Given the description of an element on the screen output the (x, y) to click on. 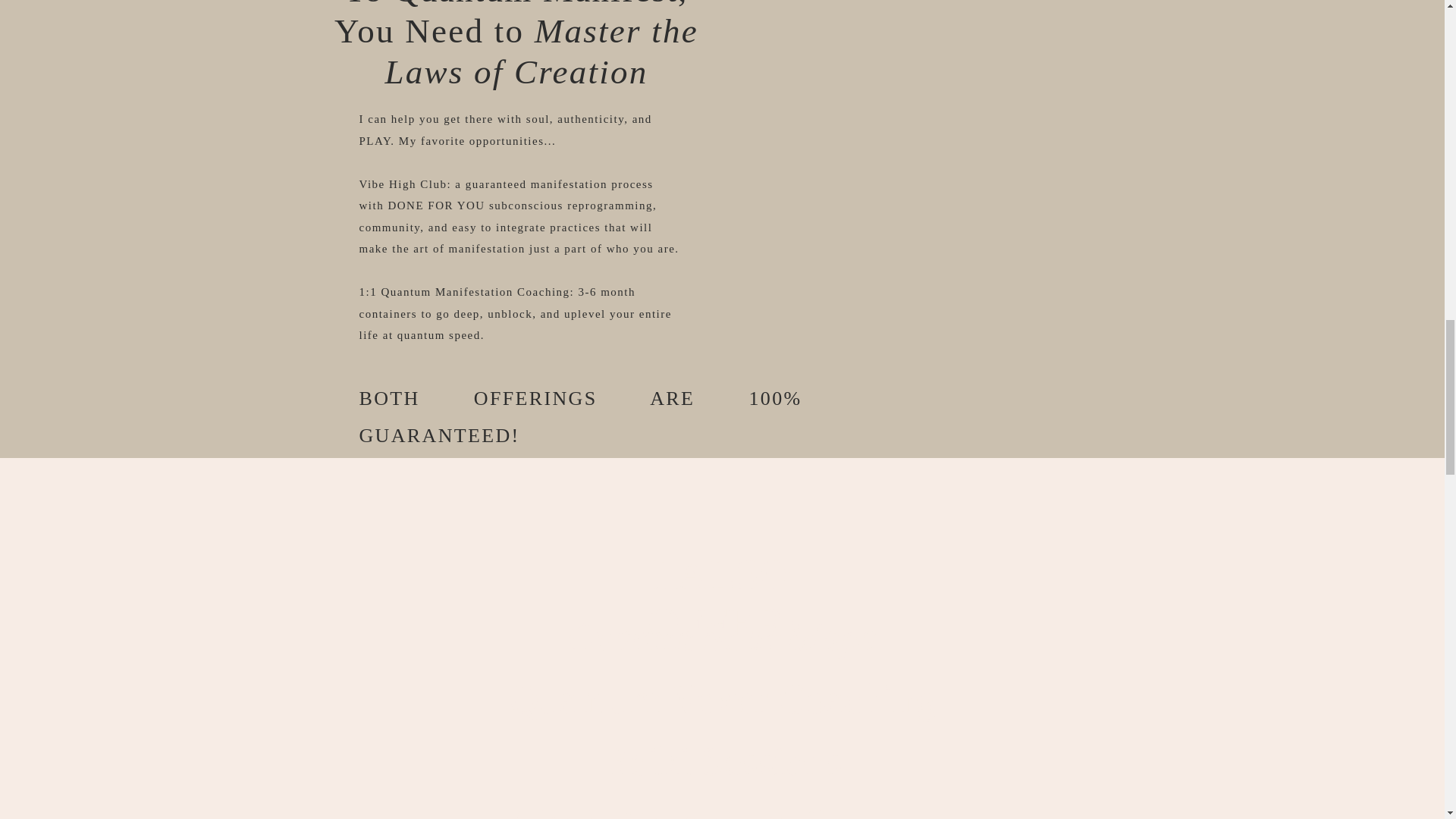
Quantum Voxer Coaching (721, 696)
Reiki Sessions (721, 759)
Healy Frequency Support (721, 809)
Custom Soul Maps (721, 634)
I ALSO OFFER: (722, 571)
